Given the description of an element on the screen output the (x, y) to click on. 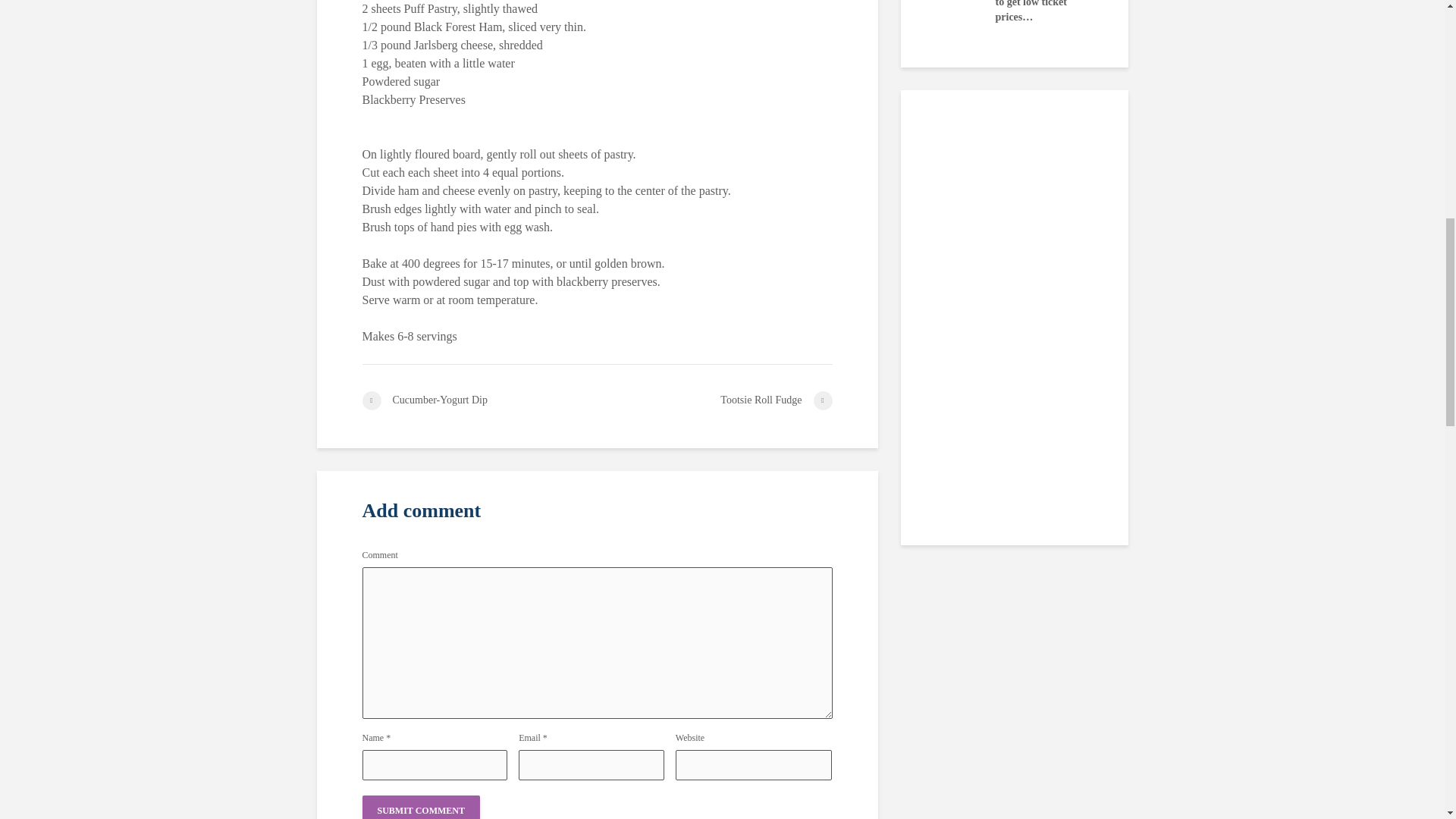
Submit Comment (421, 807)
Tootsie Roll Fudge (714, 400)
Submit Comment (421, 807)
Cucumber-Yogurt Dip (479, 400)
